Given the description of an element on the screen output the (x, y) to click on. 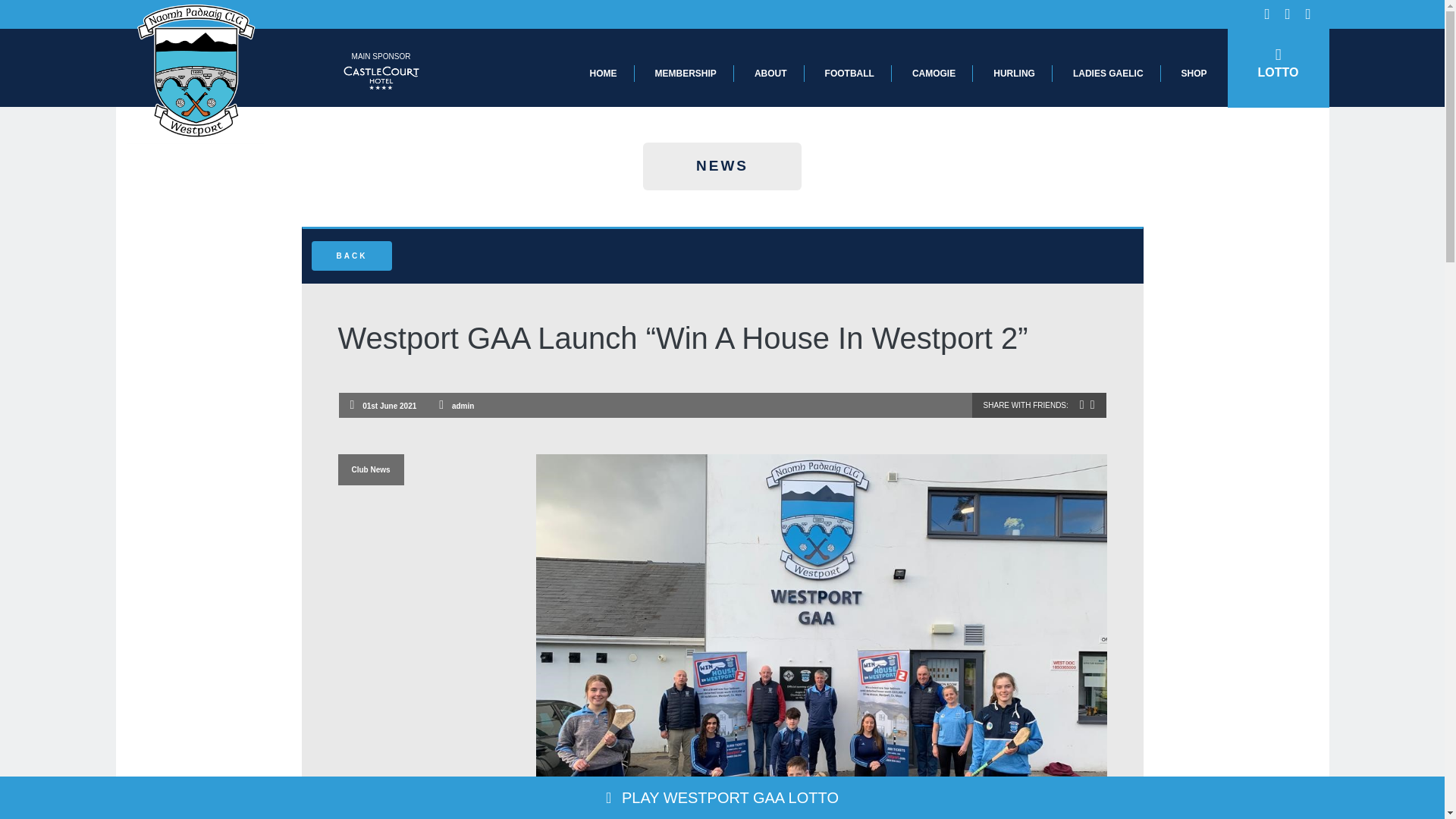
ABOUT (770, 72)
HURLING (1013, 72)
MEMBERSHIP (685, 72)
HOME (603, 72)
FOOTBALL (850, 72)
CAMOGIE (933, 72)
